Given the description of an element on the screen output the (x, y) to click on. 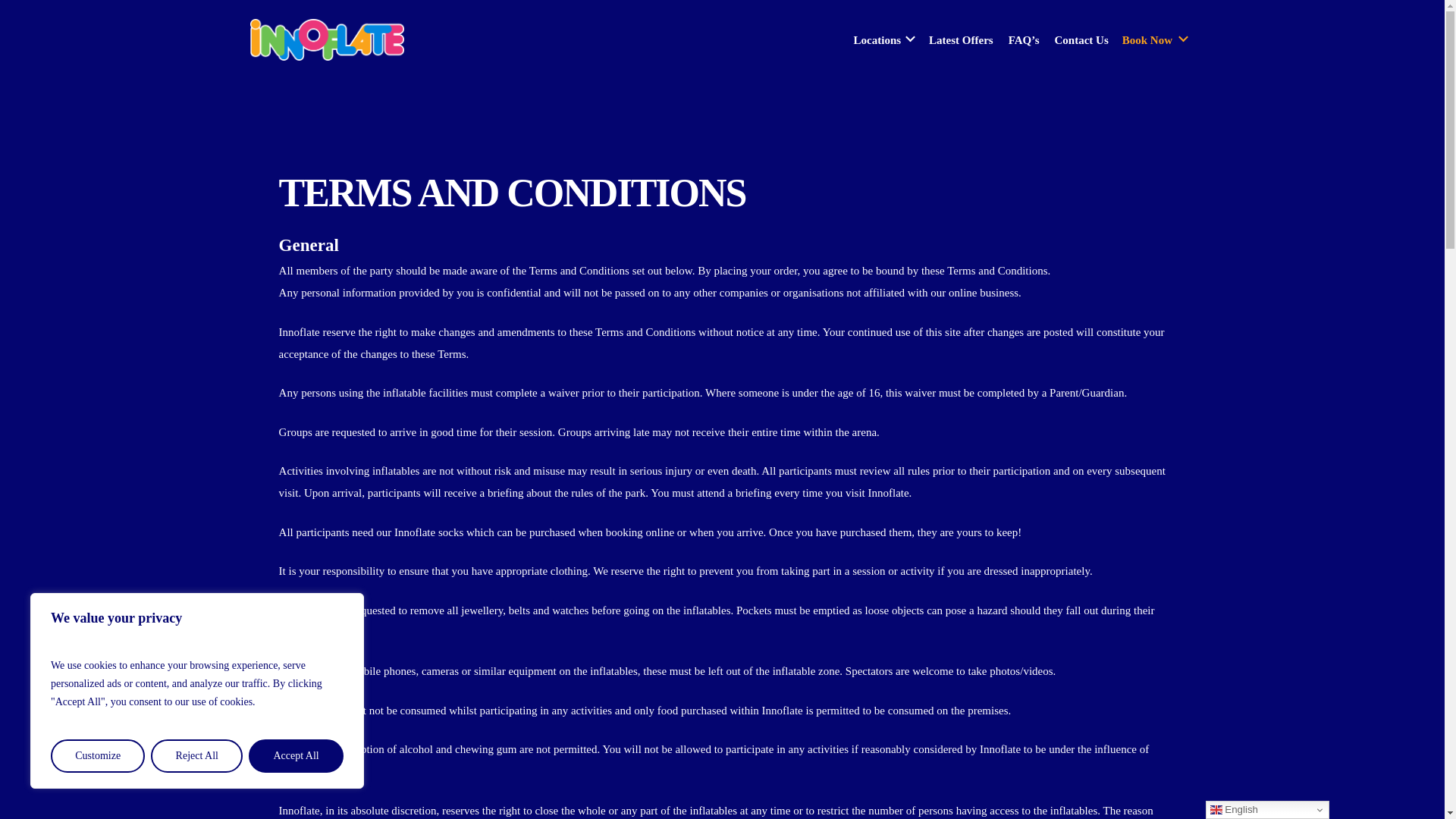
Reject All (197, 756)
Customize (97, 756)
Accept All (295, 756)
